Given the description of an element on the screen output the (x, y) to click on. 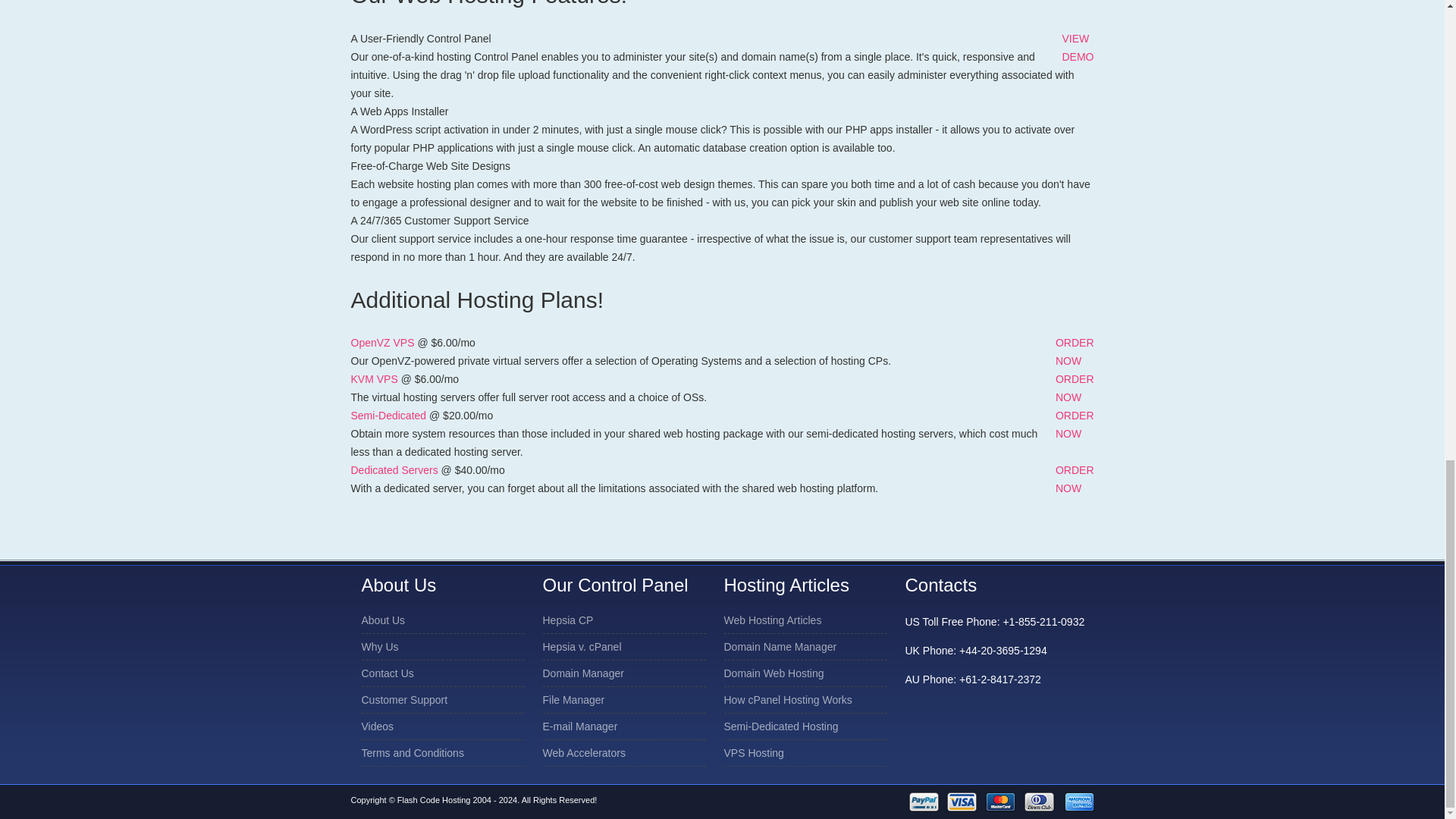
OpenVZ VPS (1077, 47)
